Given the description of an element on the screen output the (x, y) to click on. 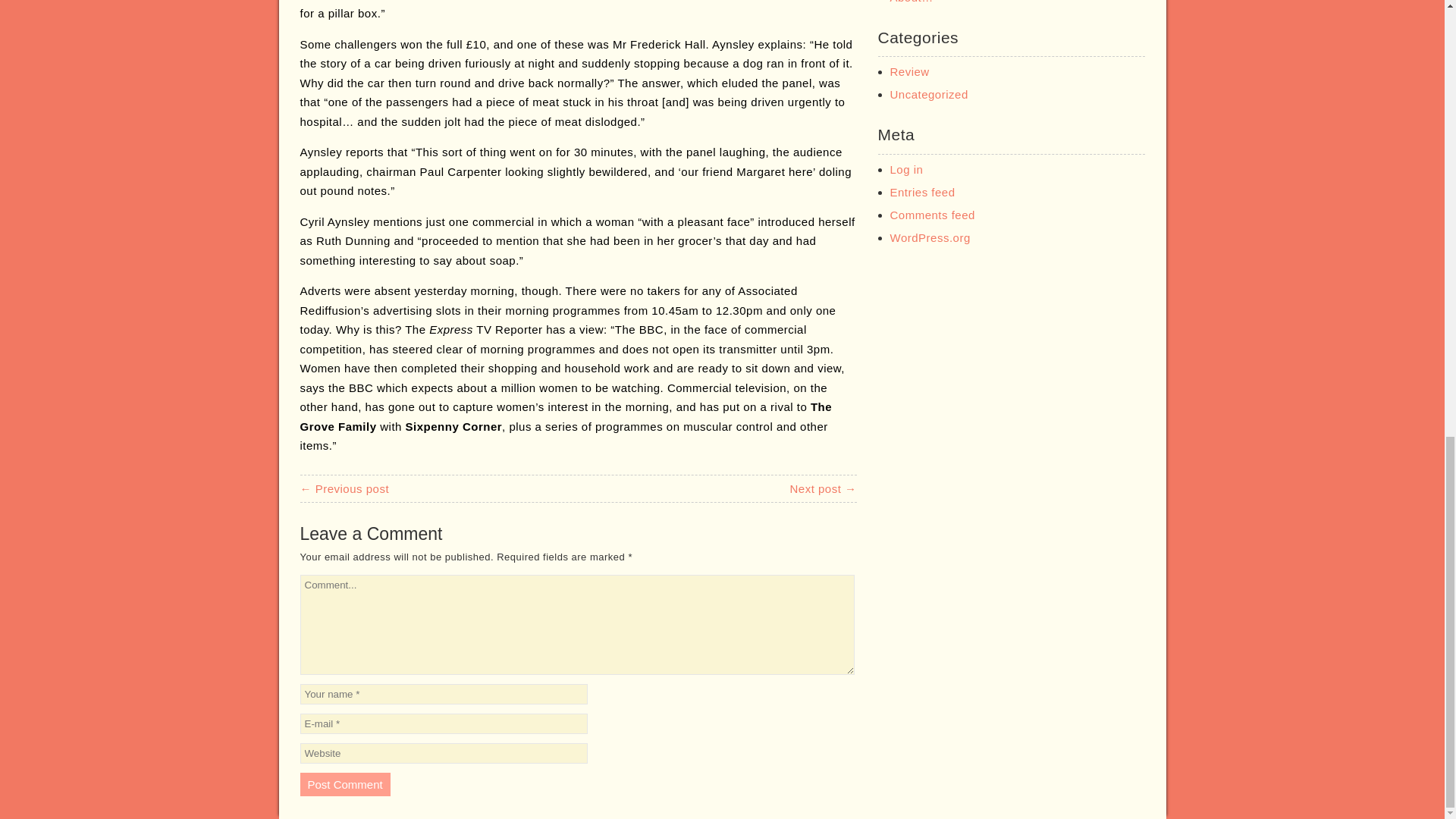
Uncategorized (928, 93)
Comments feed (932, 214)
Review (909, 71)
Jack Shit (822, 488)
Can We Talk? (344, 488)
WordPress.org (930, 237)
Entries feed (922, 192)
Post Comment (344, 784)
Post Comment (344, 784)
Log in (906, 169)
